Given the description of an element on the screen output the (x, y) to click on. 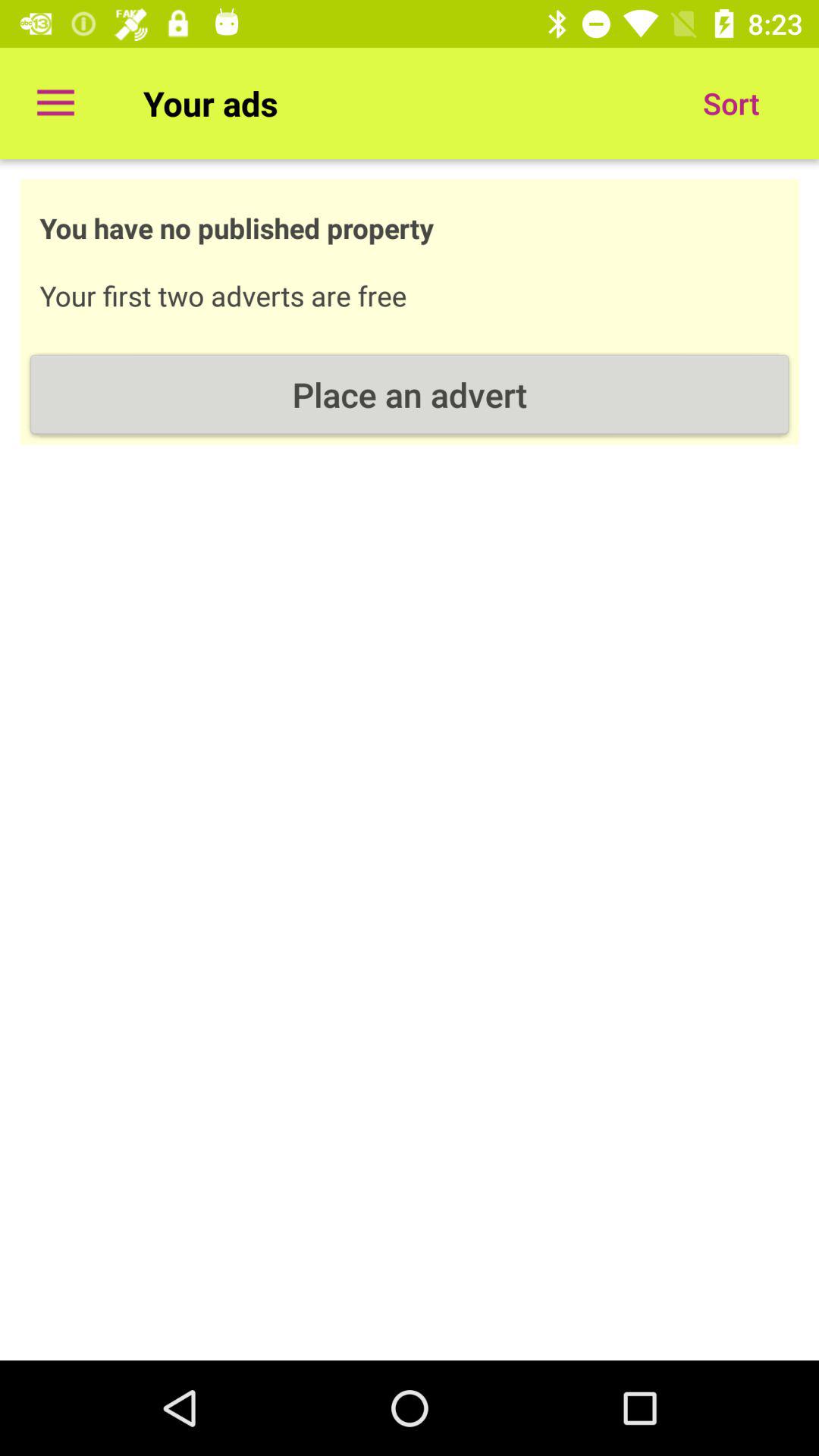
launch the sort (731, 103)
